Given the description of an element on the screen output the (x, y) to click on. 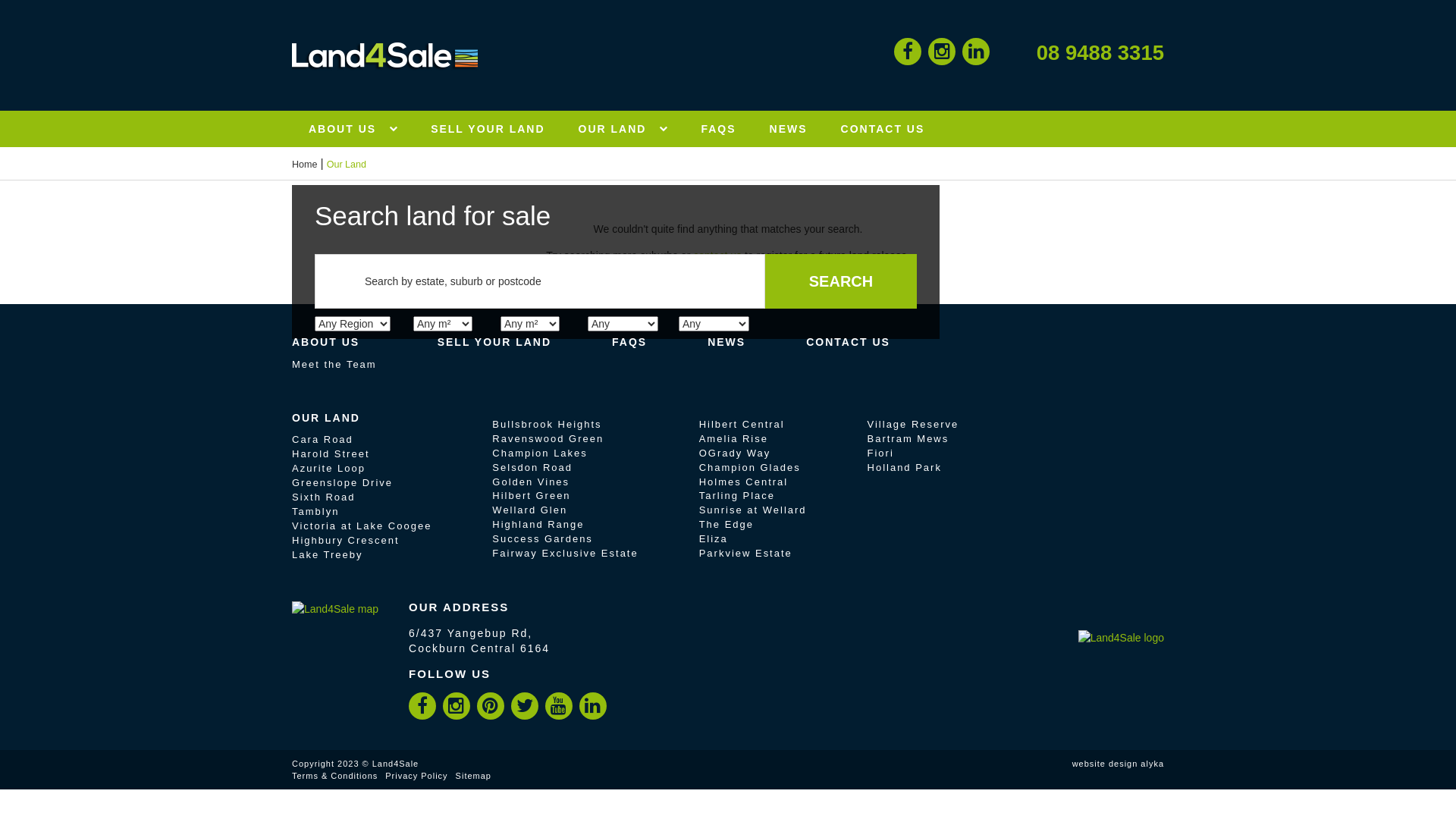
Tamblyn Element type: text (314, 511)
Sunrise at Wellard Element type: text (752, 509)
Holmes Central Element type: text (743, 481)
08 9488 3315 Element type: text (1084, 52)
contact us Element type: text (717, 255)
OUR LAND Element type: text (325, 417)
Holland Park Element type: text (904, 467)
Sitemap Element type: text (473, 775)
OUR LAND Element type: text (623, 128)
NEWS Element type: text (788, 128)
ABOUT US Element type: text (325, 341)
Harold Street Element type: text (330, 453)
Tarling Place Element type: text (737, 495)
CONTACT US Element type: text (882, 128)
Hilbert Central Element type: text (741, 423)
Search Element type: text (840, 281)
Champion Glades Element type: text (749, 467)
Greenslope Drive Element type: text (341, 482)
Terms & Conditions Element type: text (334, 775)
Facebook Element type: hover (907, 49)
Village Reserve Element type: text (913, 423)
Champion Lakes Element type: text (539, 452)
Amelia Rise Element type: text (733, 438)
Pinterest Element type: hover (490, 704)
Instagram Element type: hover (942, 49)
SELL YOUR LAND Element type: text (487, 128)
Home Element type: text (304, 164)
Fiori Element type: text (880, 452)
CONTACT US Element type: text (848, 341)
Hilbert Green Element type: text (531, 495)
Highland Range Element type: text (537, 524)
Ravenswood Green Element type: text (547, 438)
FAQS Element type: text (628, 341)
Golden Vines Element type: text (530, 481)
LinkedIn Element type: hover (592, 704)
Facebook Element type: hover (422, 704)
Wellard Glen Element type: text (529, 509)
Azurite Loop Element type: text (328, 467)
FAQS Element type: text (718, 128)
Victoria at Lake Coogee Element type: text (361, 525)
LinkedIn Element type: hover (976, 49)
Fairway Exclusive Estate Element type: text (564, 552)
NEWS Element type: text (726, 341)
Bartram Mews Element type: text (908, 438)
Sixth Road Element type: text (323, 496)
Instagram Element type: hover (456, 704)
Success Gardens Element type: text (542, 538)
Cara Road Element type: text (322, 439)
Eliza Element type: text (713, 538)
OGrady Way Element type: text (735, 452)
Parkview Estate Element type: text (745, 552)
Highbury Crescent Element type: text (345, 540)
Selsdon Road Element type: text (532, 467)
Lake Treeby Element type: text (326, 554)
ABOUT US Element type: text (352, 128)
Bullsbrook Heights Element type: text (546, 423)
The Edge Element type: text (726, 524)
SELL YOUR LAND Element type: text (494, 341)
YouTube Element type: hover (558, 704)
Privacy Policy Element type: text (416, 775)
Twitter Element type: hover (524, 704)
alyka Element type: text (1152, 763)
Meet the Team Element type: text (333, 364)
